Given the description of an element on the screen output the (x, y) to click on. 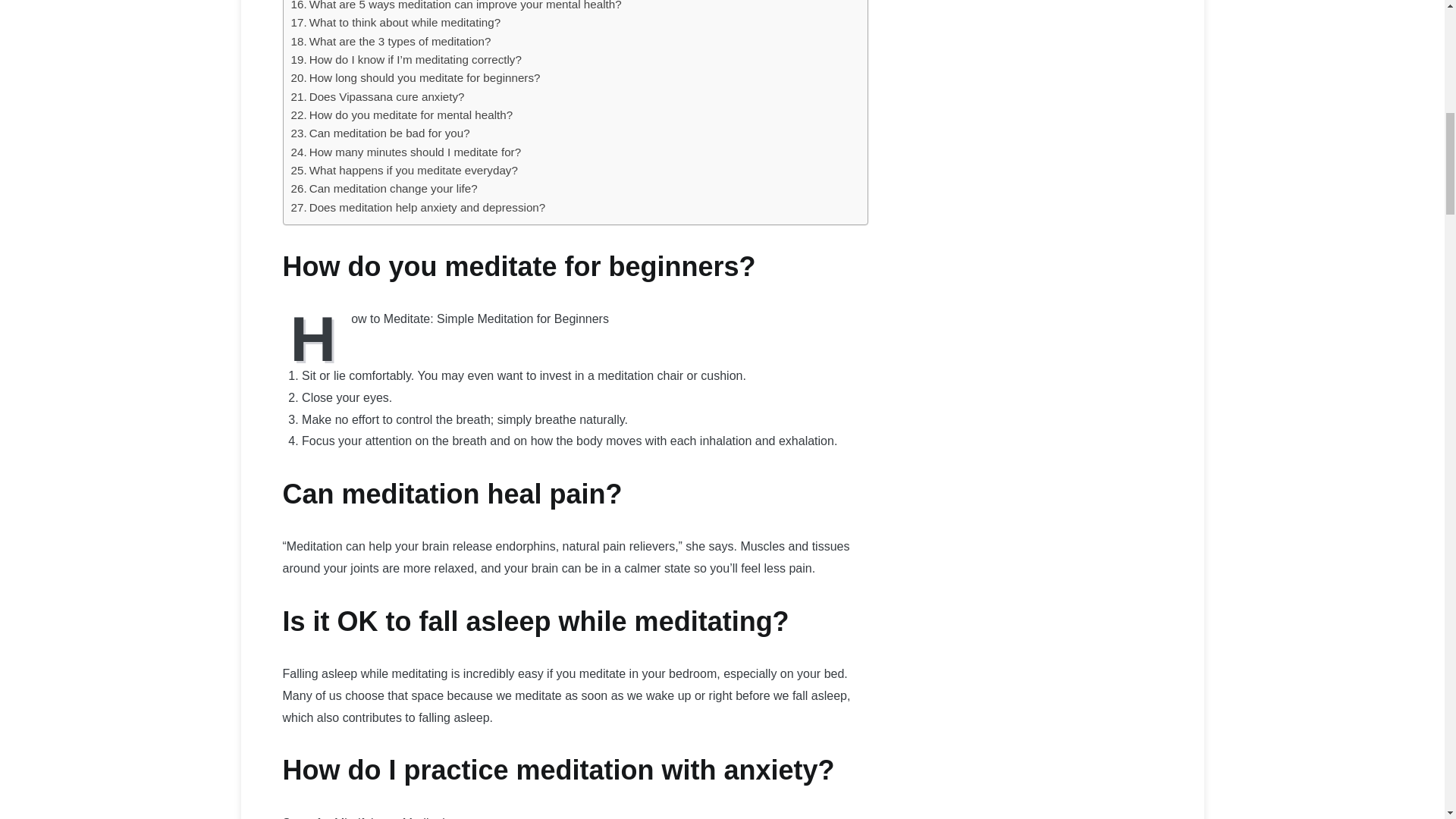
Does Vipassana cure anxiety? (377, 96)
What to think about while meditating? (395, 22)
How long should you meditate for beginners? (415, 77)
What to think about while meditating? (395, 22)
What are 5 ways meditation can improve your mental health? (456, 6)
How long should you meditate for beginners? (415, 77)
What are the 3 types of meditation? (391, 41)
What are 5 ways meditation can improve your mental health? (456, 6)
What are the 3 types of meditation? (391, 41)
